Given the description of an element on the screen output the (x, y) to click on. 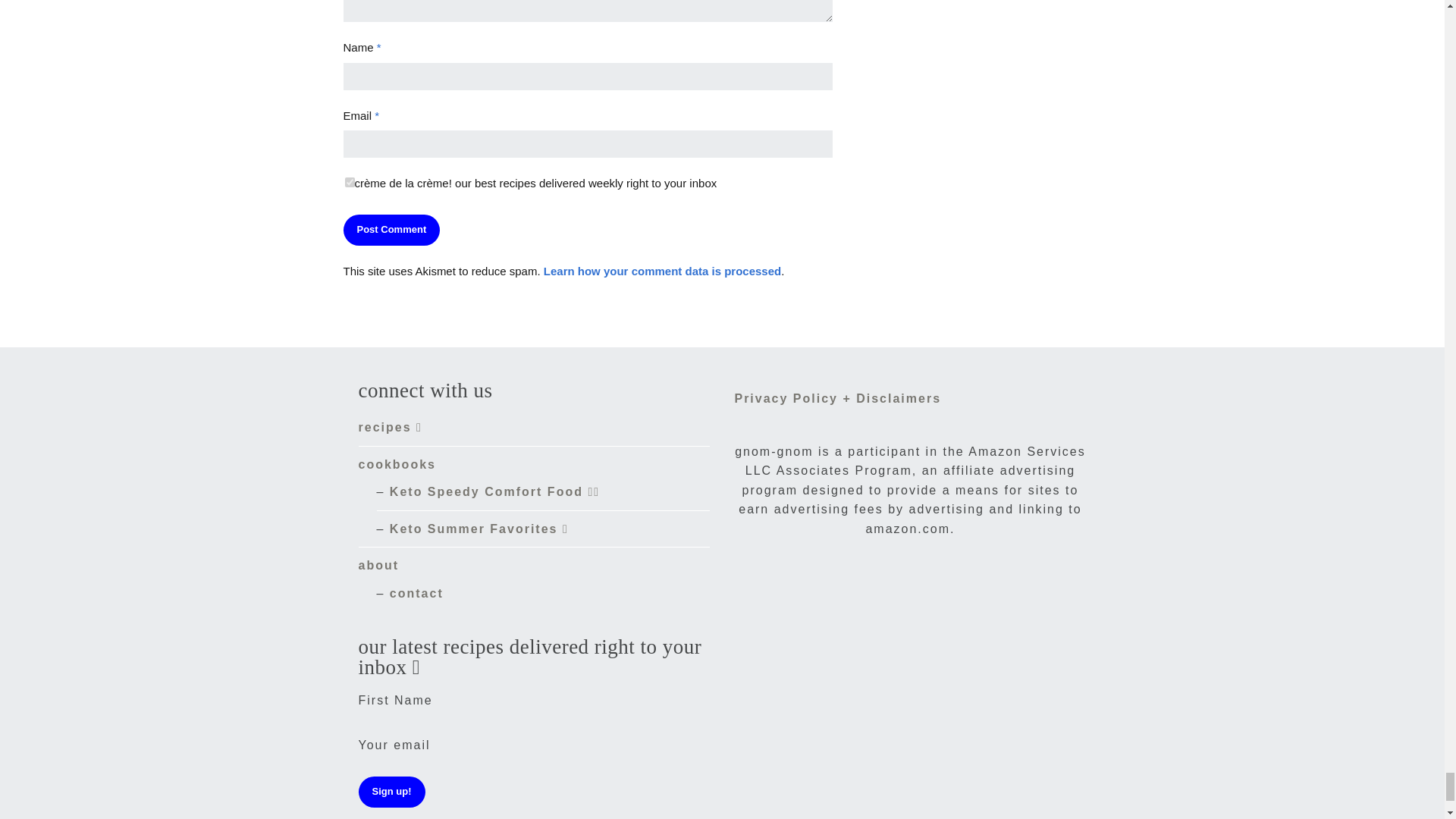
Post Comment (390, 229)
Sign up! (391, 791)
1 (348, 182)
